Given the description of an element on the screen output the (x, y) to click on. 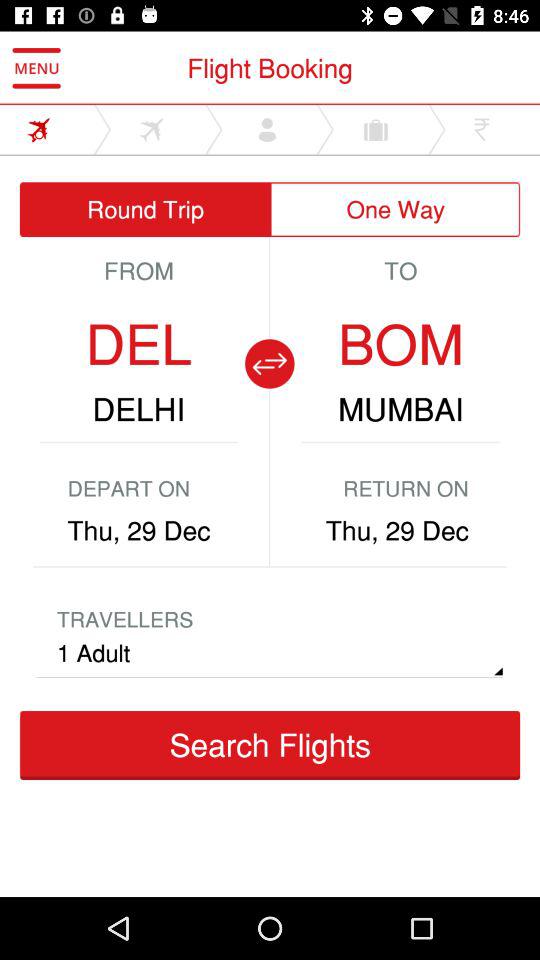
scroll to check-in icon (134, 789)
